Given the description of an element on the screen output the (x, y) to click on. 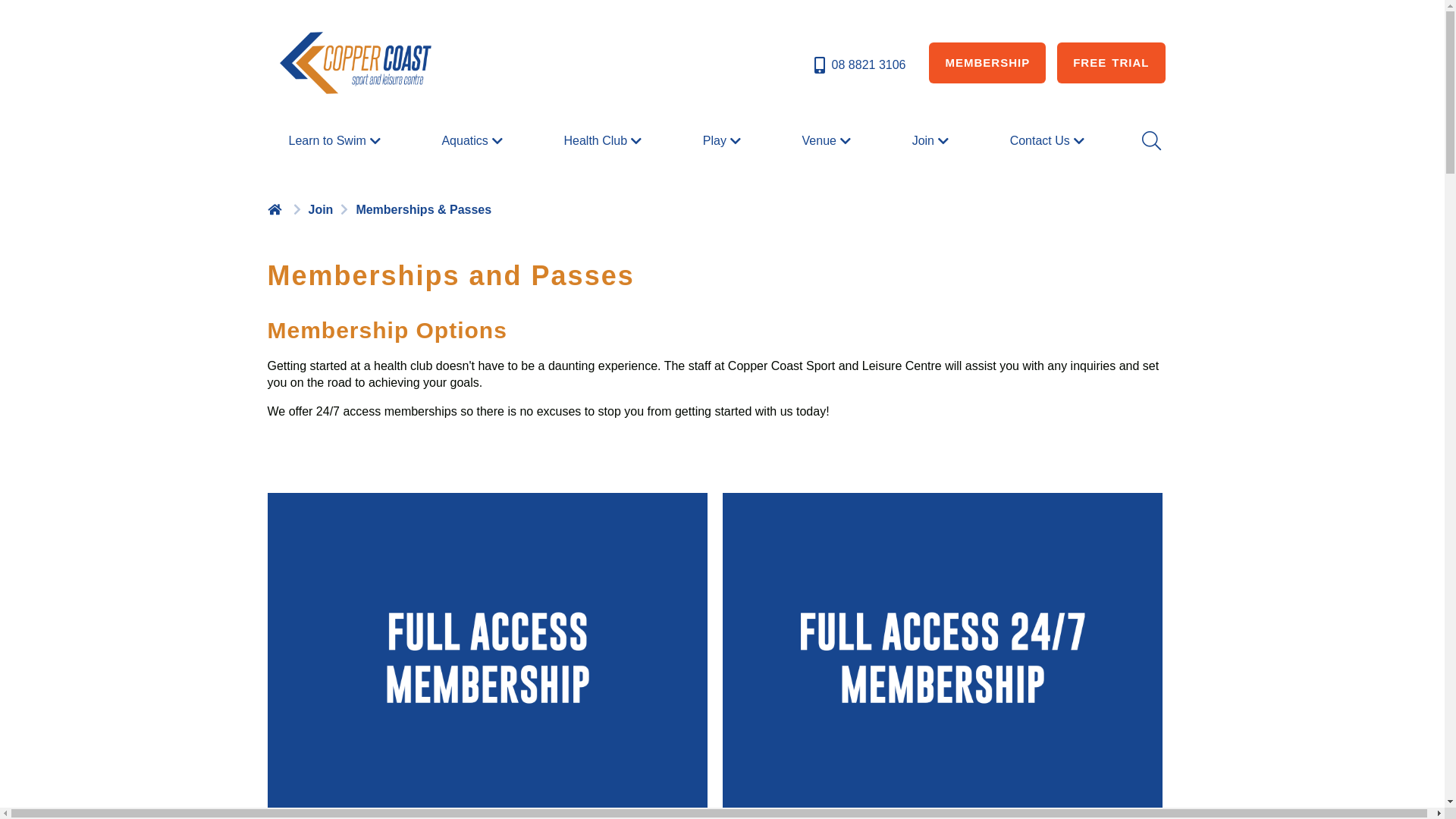
Play Element type: text (723, 140)
FREE TRIAL Element type: text (1110, 62)
Contact Us Element type: text (1049, 140)
Search Element type: text (1150, 141)
Aquatics Element type: text (473, 140)
Learn to Swim Element type: text (335, 140)
  Element type: text (275, 209)
08 8821 3106 Element type: text (858, 65)
Health Club Element type: text (604, 140)
Venue Element type: text (828, 140)
Join Element type: text (932, 140)
MEMBERSHIP Element type: text (986, 62)
